Given the description of an element on the screen output the (x, y) to click on. 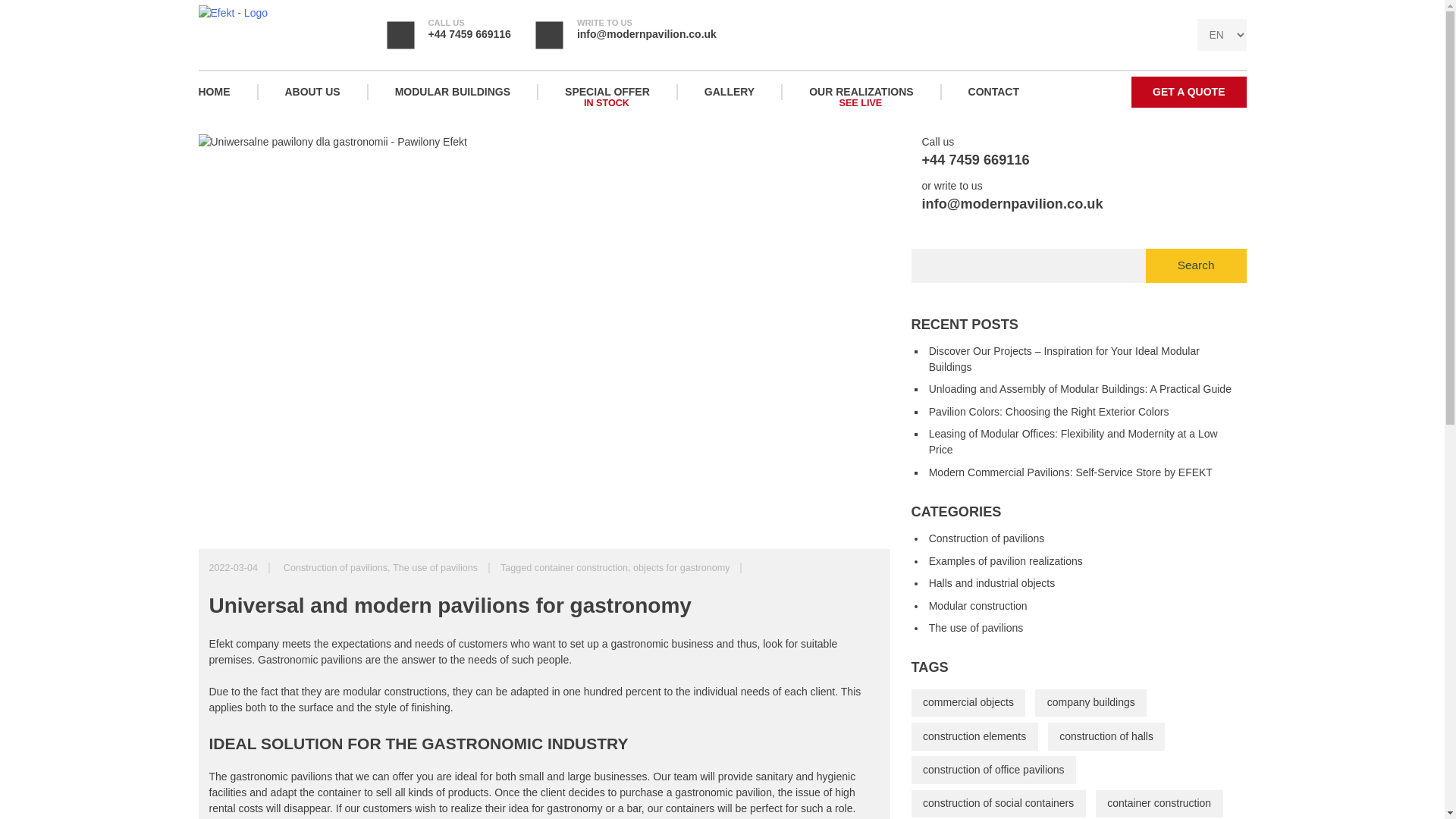
HOME (227, 91)
GALLERY (728, 91)
CONTACT (992, 91)
ABOUT US (311, 91)
Search (1195, 265)
objects for gastronomy (607, 91)
MODULAR BUILDINGS (681, 567)
container construction (451, 91)
Construction of pavilions (580, 567)
